Given the description of an element on the screen output the (x, y) to click on. 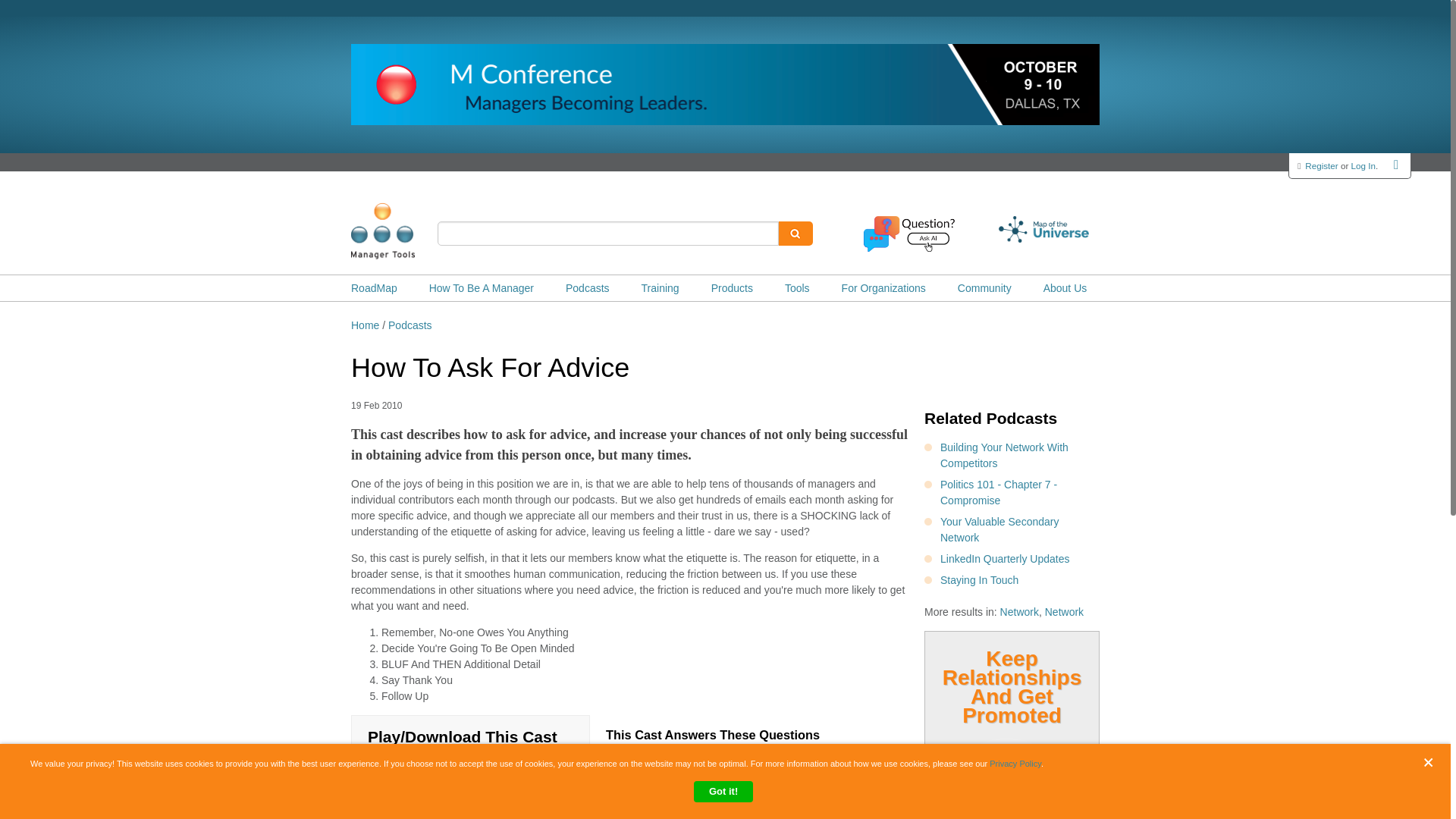
Home (406, 231)
Got it! (723, 791)
Privacy Policy (1015, 763)
Close (1431, 762)
About Cookie Control (37, 769)
Log In (1363, 165)
Register (1321, 165)
About Cookie Control (37, 769)
Training (660, 288)
RoadMap (373, 288)
Search (795, 233)
How To Be A Manager (481, 288)
Shopping Cart (1396, 164)
Enter the terms you wish to search for. (608, 233)
Podcasts (588, 288)
